Given the description of an element on the screen output the (x, y) to click on. 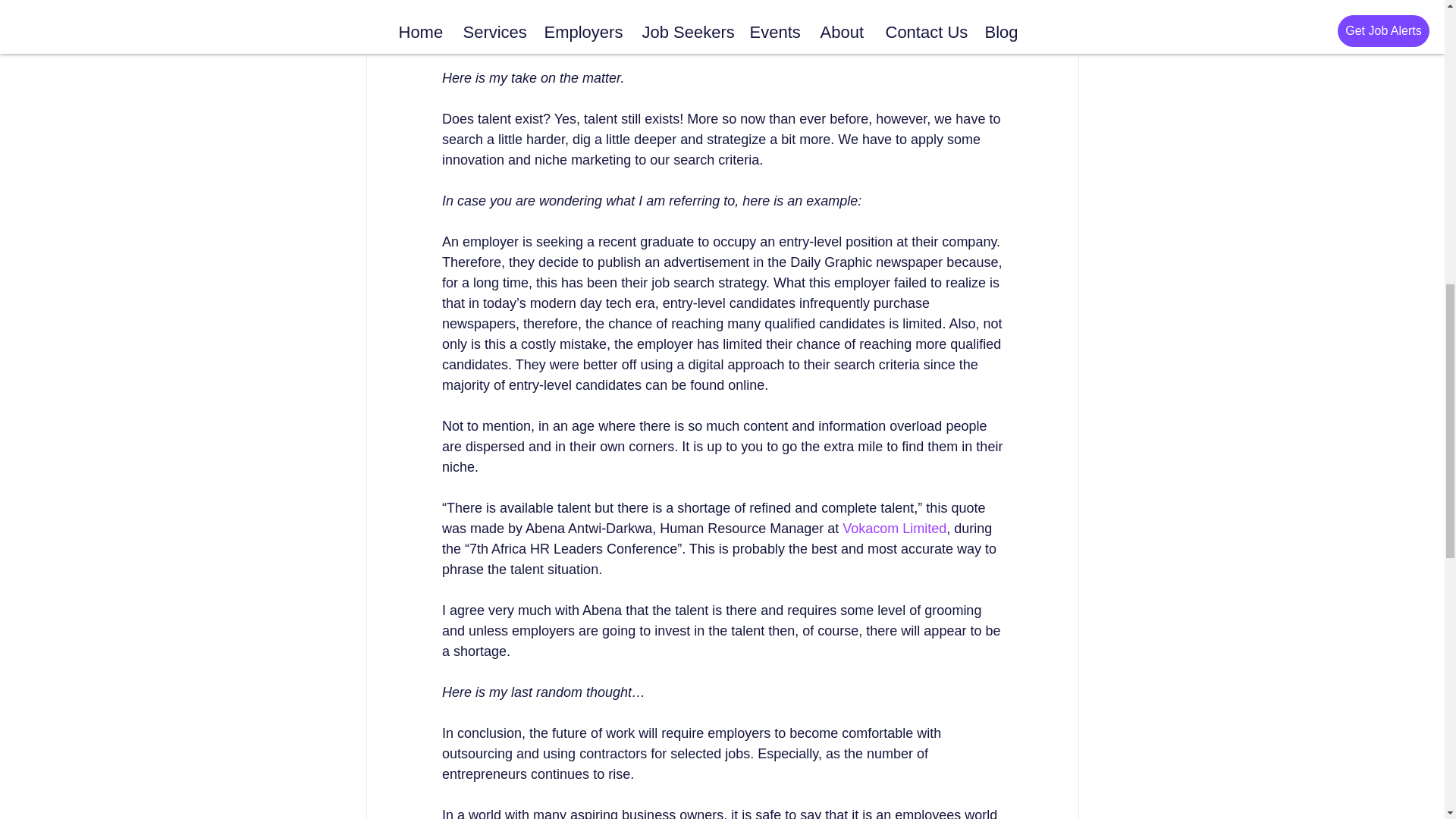
Vokacom Limited (894, 528)
